Given the description of an element on the screen output the (x, y) to click on. 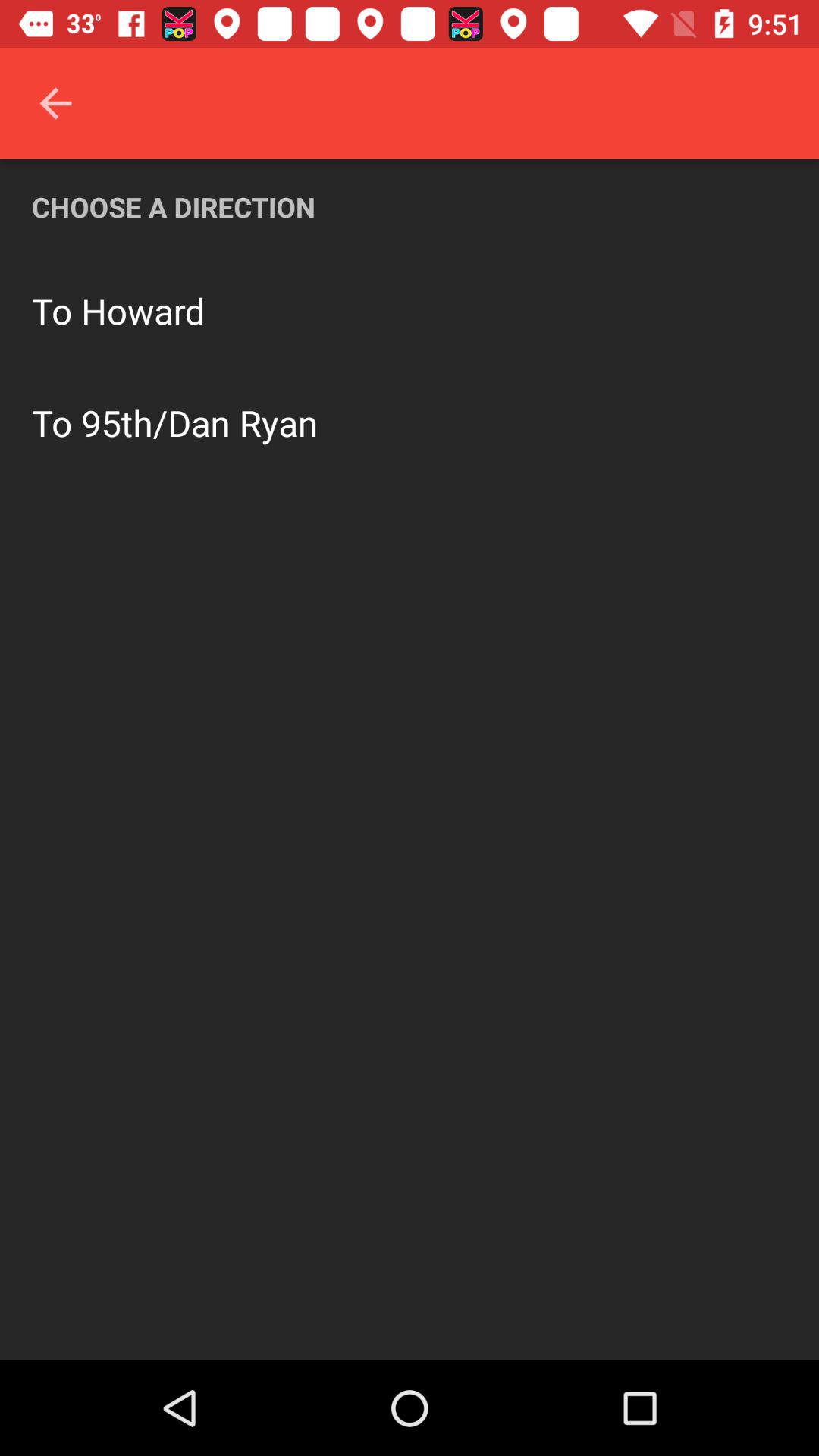
select the howard icon (143, 310)
